Given the description of an element on the screen output the (x, y) to click on. 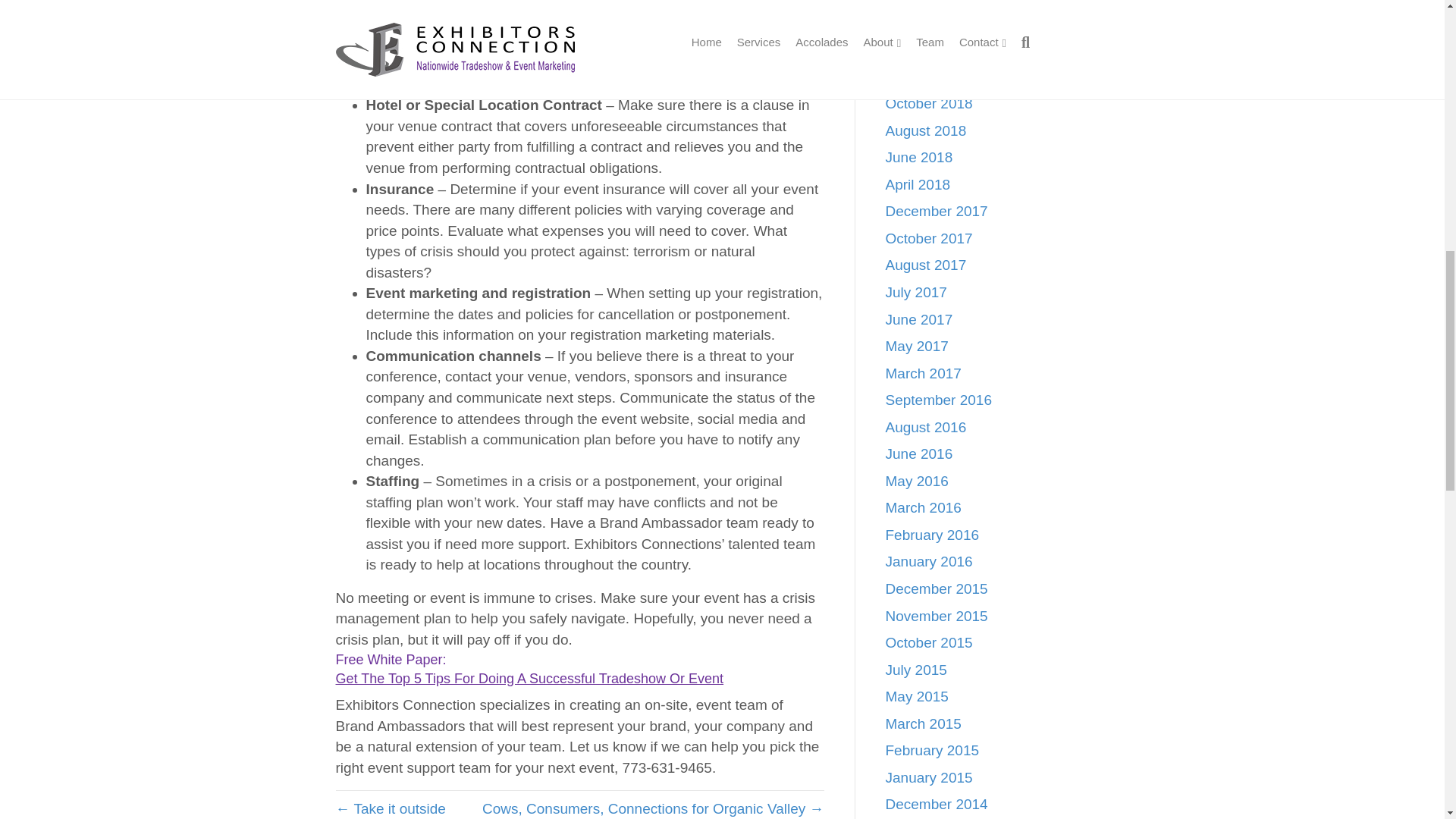
December 2018 (936, 76)
September 2019 (938, 23)
October 2018 (928, 103)
October 2019 (928, 2)
December 2017 (936, 211)
Get The Top 5 Tips For Doing A Successful Tradeshow Or Event (528, 678)
April 2018 (917, 184)
June 2018 (919, 157)
February 2019 (932, 49)
August 2018 (925, 130)
